Given the description of an element on the screen output the (x, y) to click on. 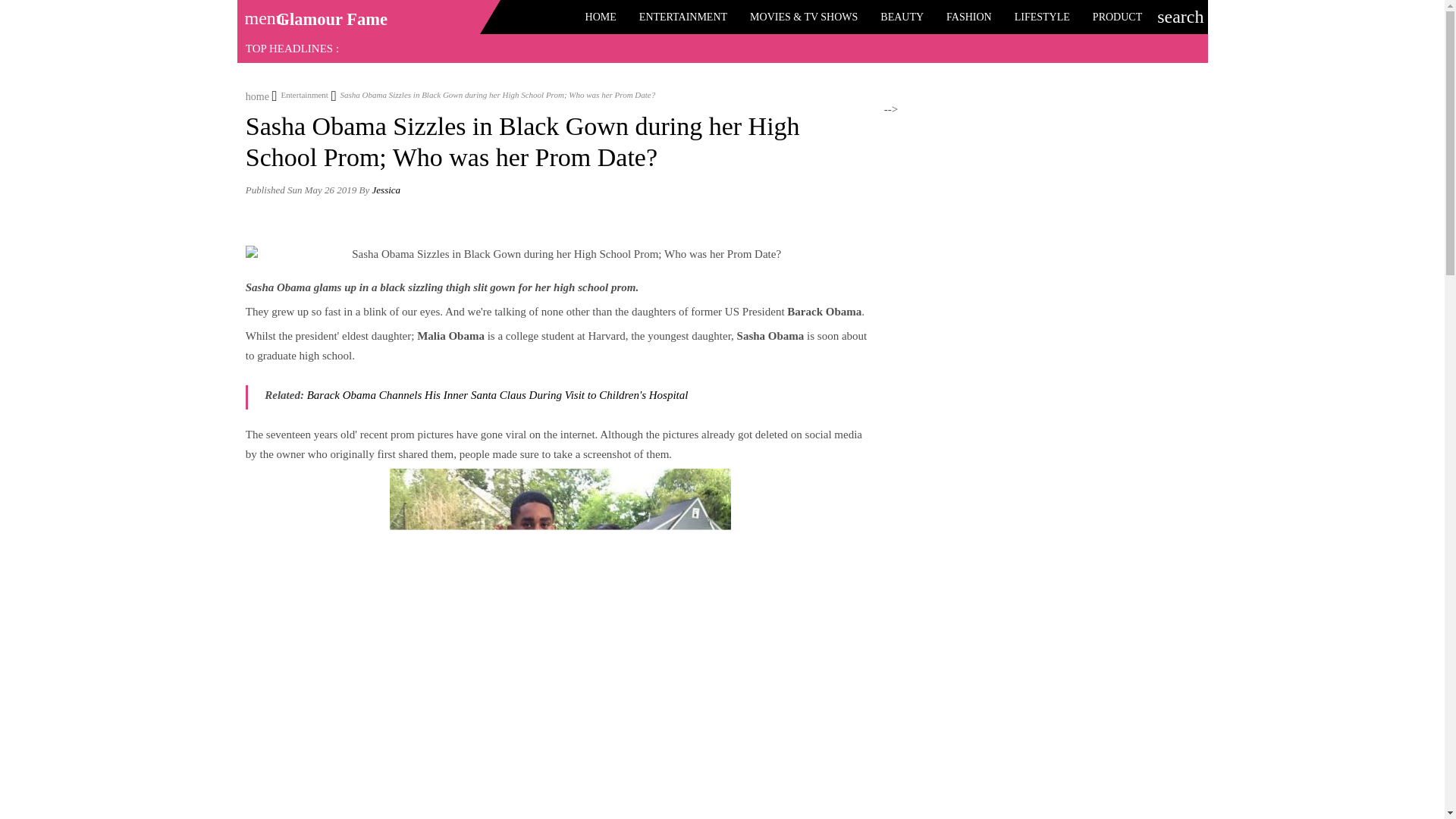
menu (259, 13)
PRODUCT (1117, 17)
FASHION (968, 17)
Entertainment (300, 94)
BEAUTY (901, 17)
Glamour Fame (331, 18)
ENTERTAINMENT (682, 17)
HOME (600, 17)
Jessica (386, 189)
LIFESTYLE (1042, 17)
home (257, 94)
